Given the description of an element on the screen output the (x, y) to click on. 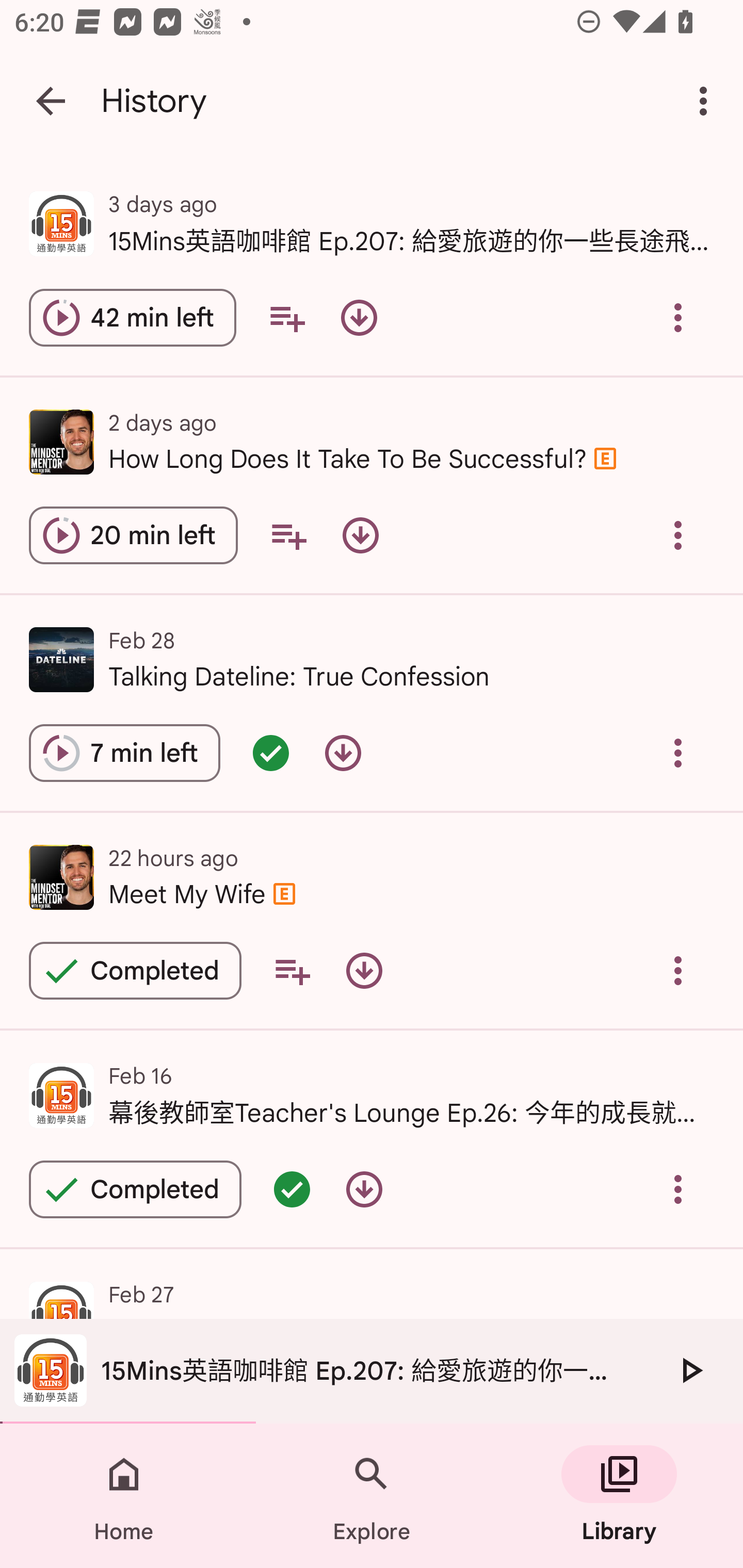
Navigate up (50, 101)
More options (706, 101)
Add to your queue (287, 317)
Download episode (359, 317)
Overflow menu (677, 317)
Add to your queue (288, 535)
Download episode (360, 535)
Overflow menu (677, 535)
Episode queued - double tap for options (270, 753)
Download episode (342, 753)
Overflow menu (677, 753)
Play episode Meet My Wife Completed (134, 970)
Add to your queue (291, 970)
Download episode (364, 970)
Overflow menu (677, 970)
Episode queued - double tap for options (291, 1189)
Download episode (364, 1189)
Overflow menu (677, 1189)
Play (690, 1370)
Home (123, 1495)
Explore (371, 1495)
